Given the description of an element on the screen output the (x, y) to click on. 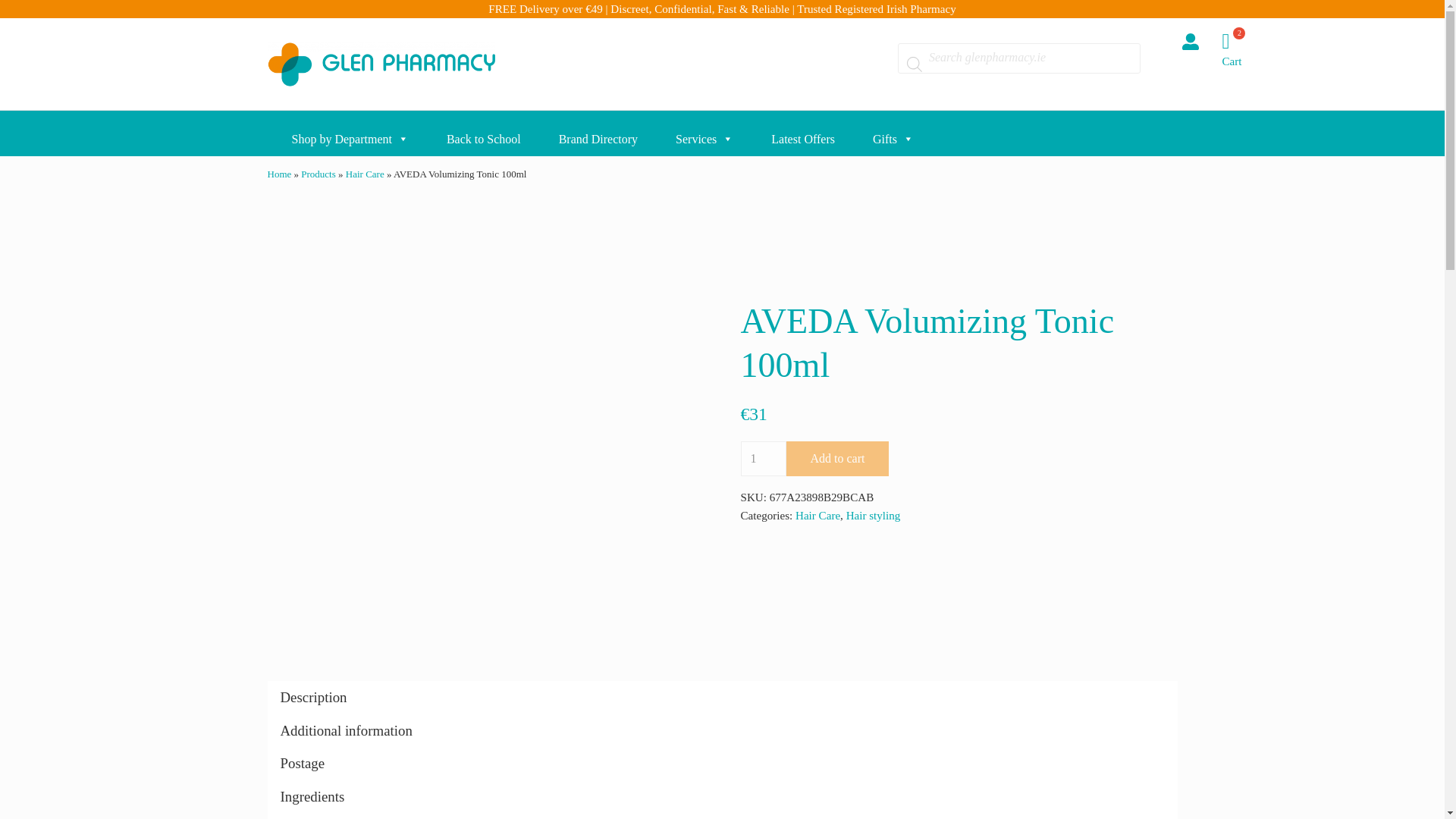
Cart (1241, 48)
1 (762, 458)
My account (1189, 41)
Shop by Department (340, 132)
